Given the description of an element on the screen output the (x, y) to click on. 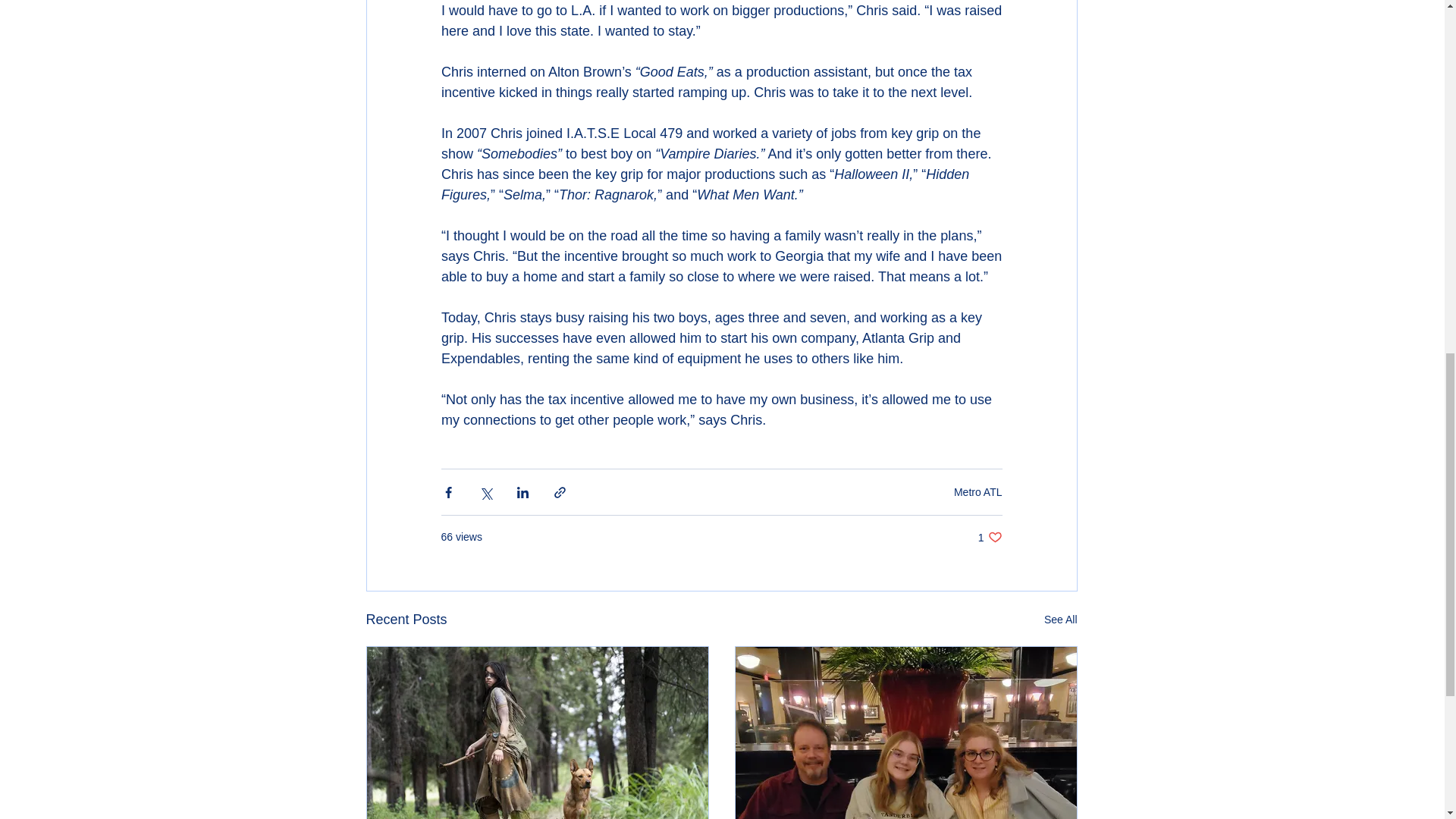
Metro ATL (990, 536)
See All (978, 491)
